Given the description of an element on the screen output the (x, y) to click on. 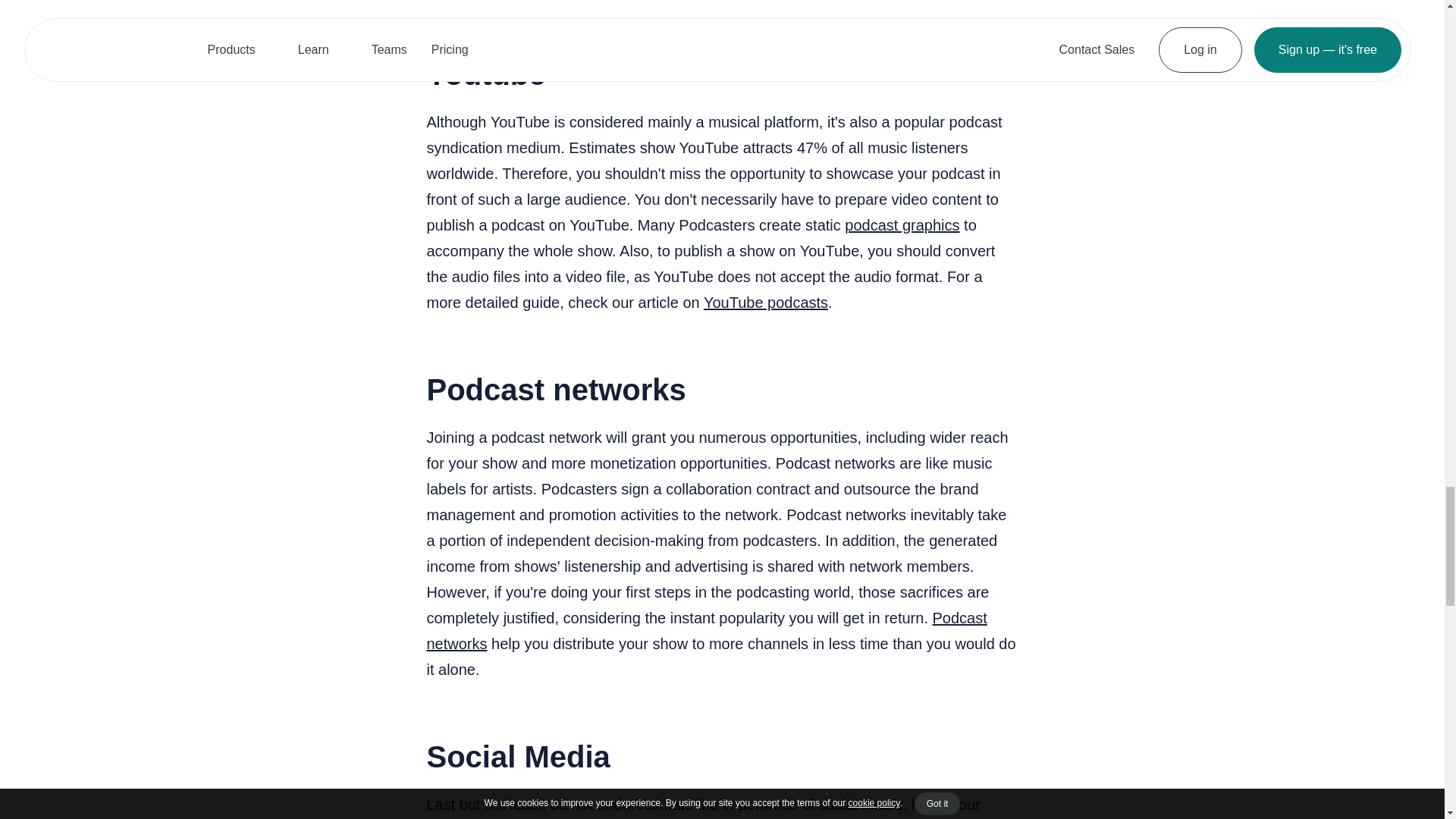
podcast graphics (901, 225)
Podcast networks (706, 630)
YouTube podcasts (765, 302)
